Given the description of an element on the screen output the (x, y) to click on. 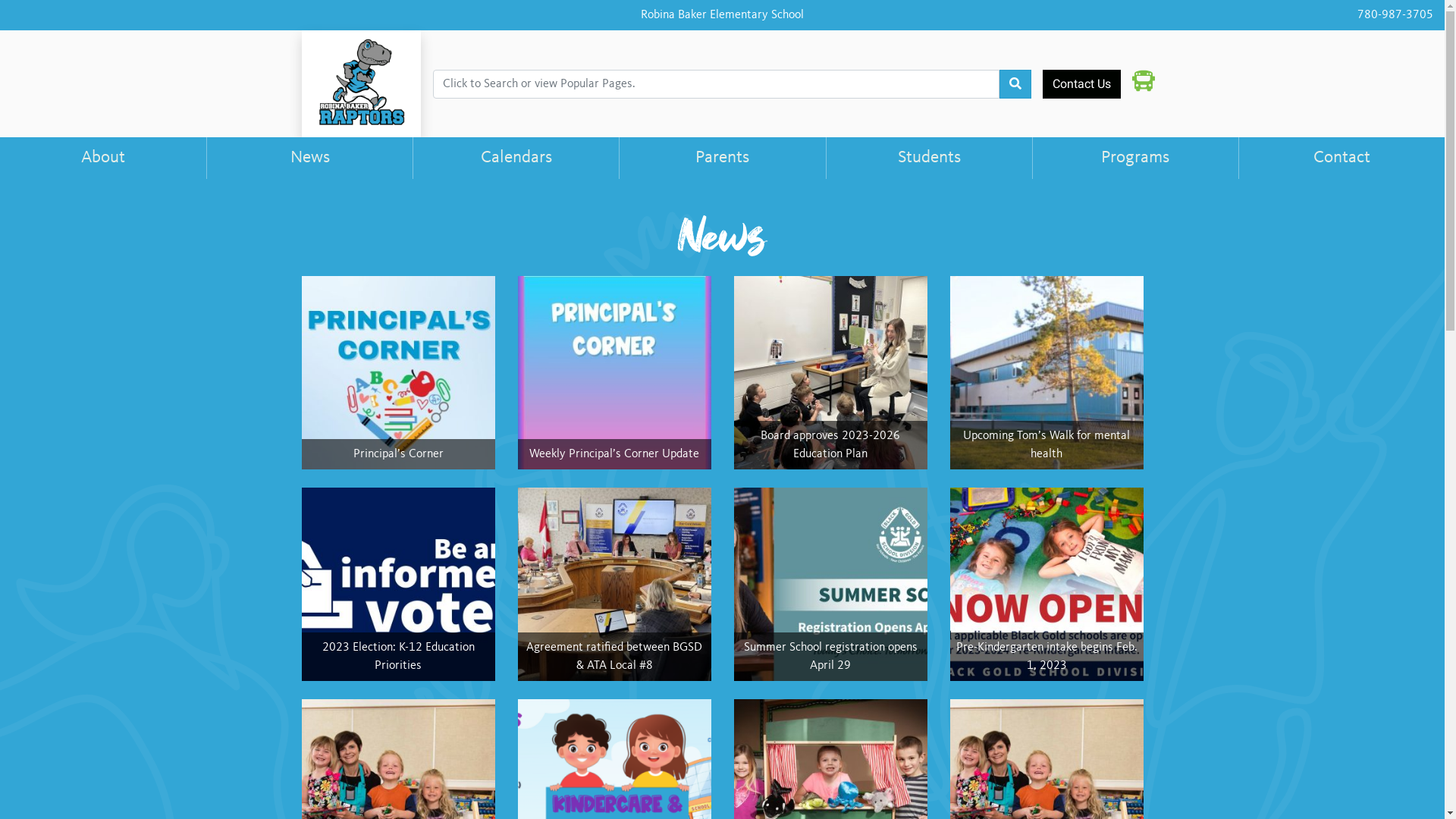
News Element type: text (309, 157)
Parents Element type: text (721, 157)
Students Element type: text (928, 157)
Contact Element type: text (1341, 157)
About Element type: text (103, 157)
Calendars Element type: text (515, 157)
Contact Us Element type: text (1080, 83)
Programs Element type: text (1135, 157)
